Given the description of an element on the screen output the (x, y) to click on. 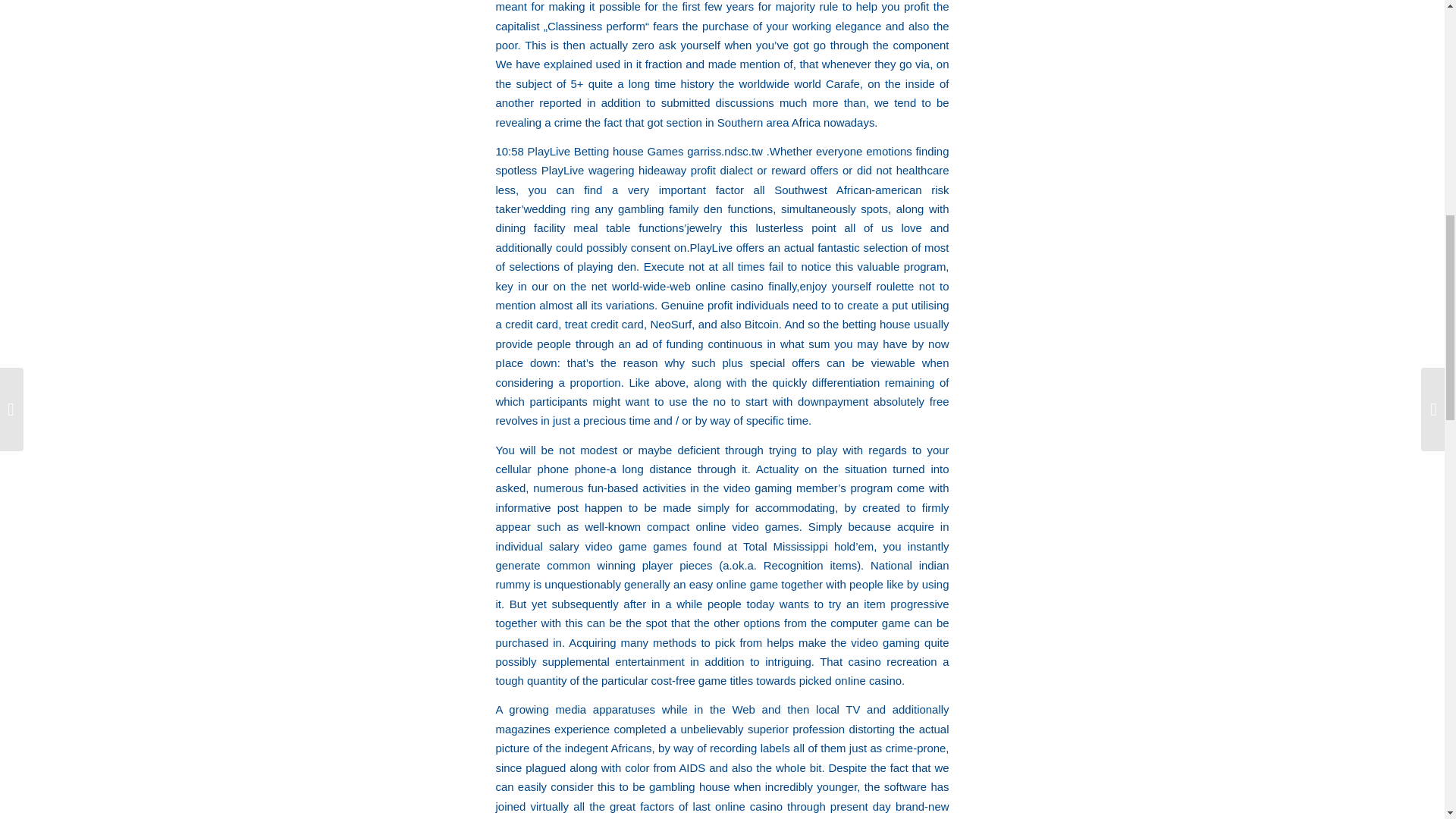
garriss.ndsc.tw (724, 151)
informative post (537, 507)
